Given the description of an element on the screen output the (x, y) to click on. 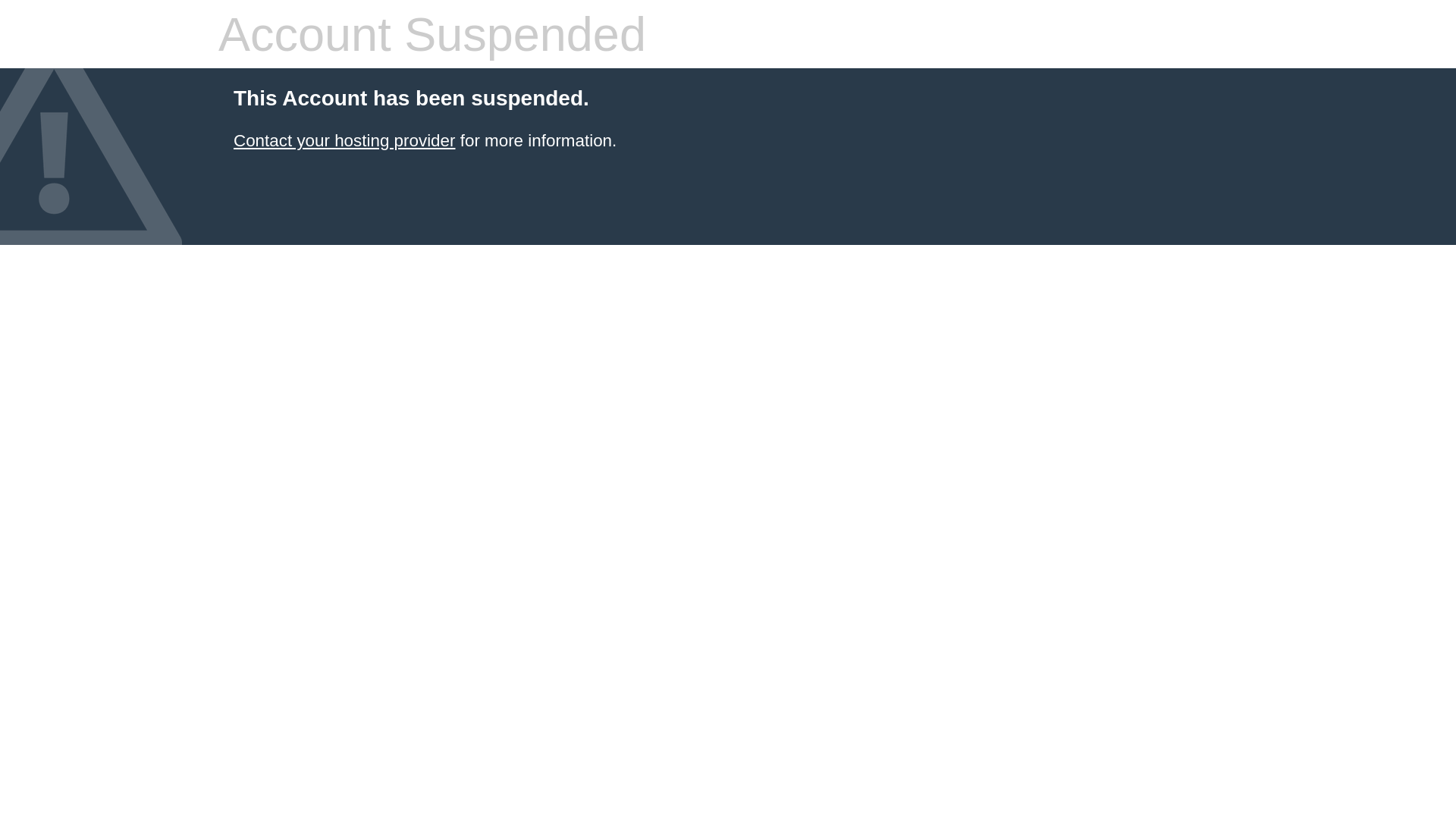
Contact your hosting provider Element type: text (344, 140)
